Given the description of an element on the screen output the (x, y) to click on. 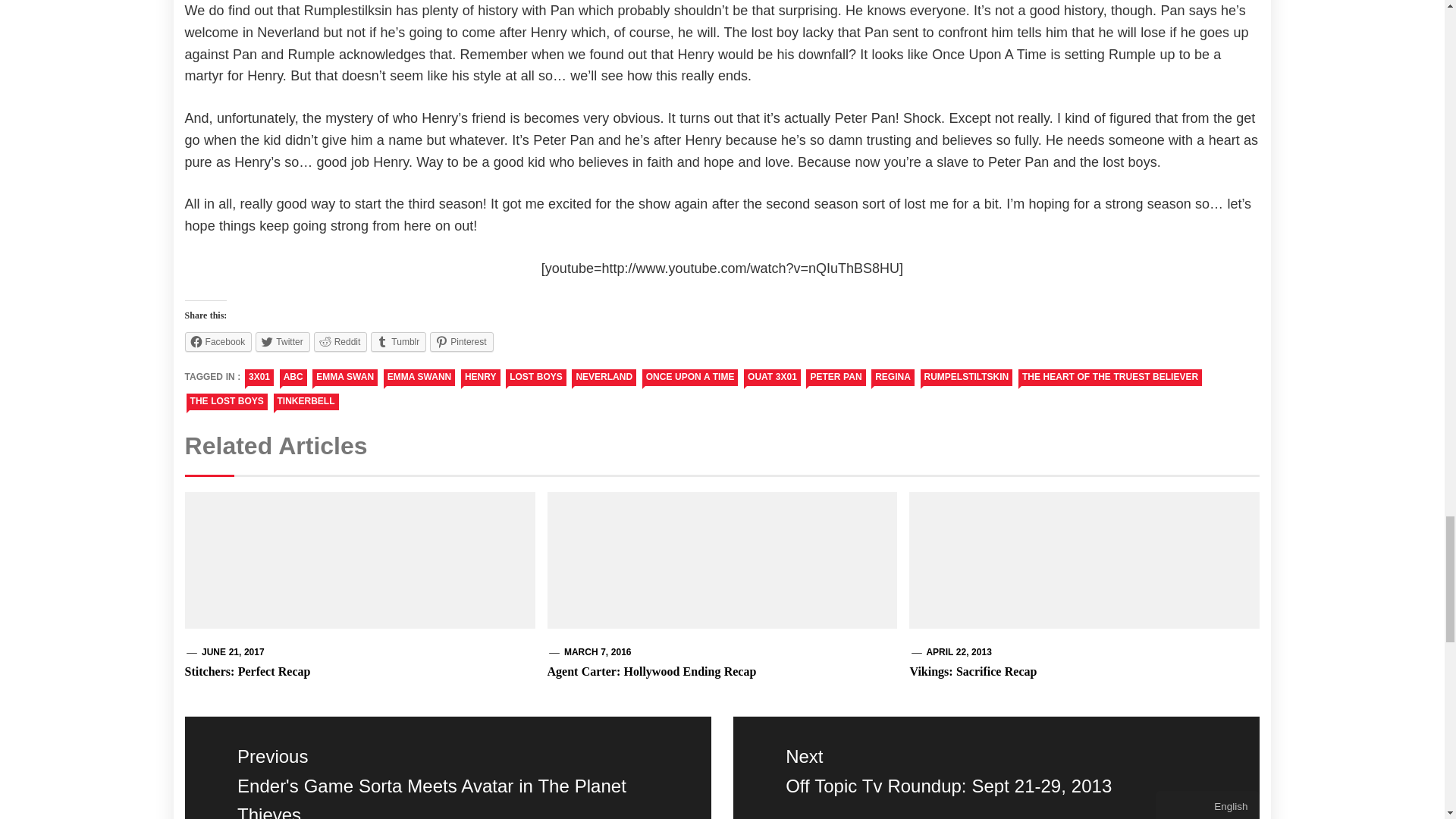
Reddit (341, 342)
LOST BOYS (535, 377)
Tumblr (398, 342)
Click to share on Tumblr (398, 342)
OUAT 3X01 (772, 377)
NEVERLAND (604, 377)
Facebook (217, 342)
Click to share on Twitter (282, 342)
EMMA SWAN (345, 377)
ABC (293, 377)
